Given the description of an element on the screen output the (x, y) to click on. 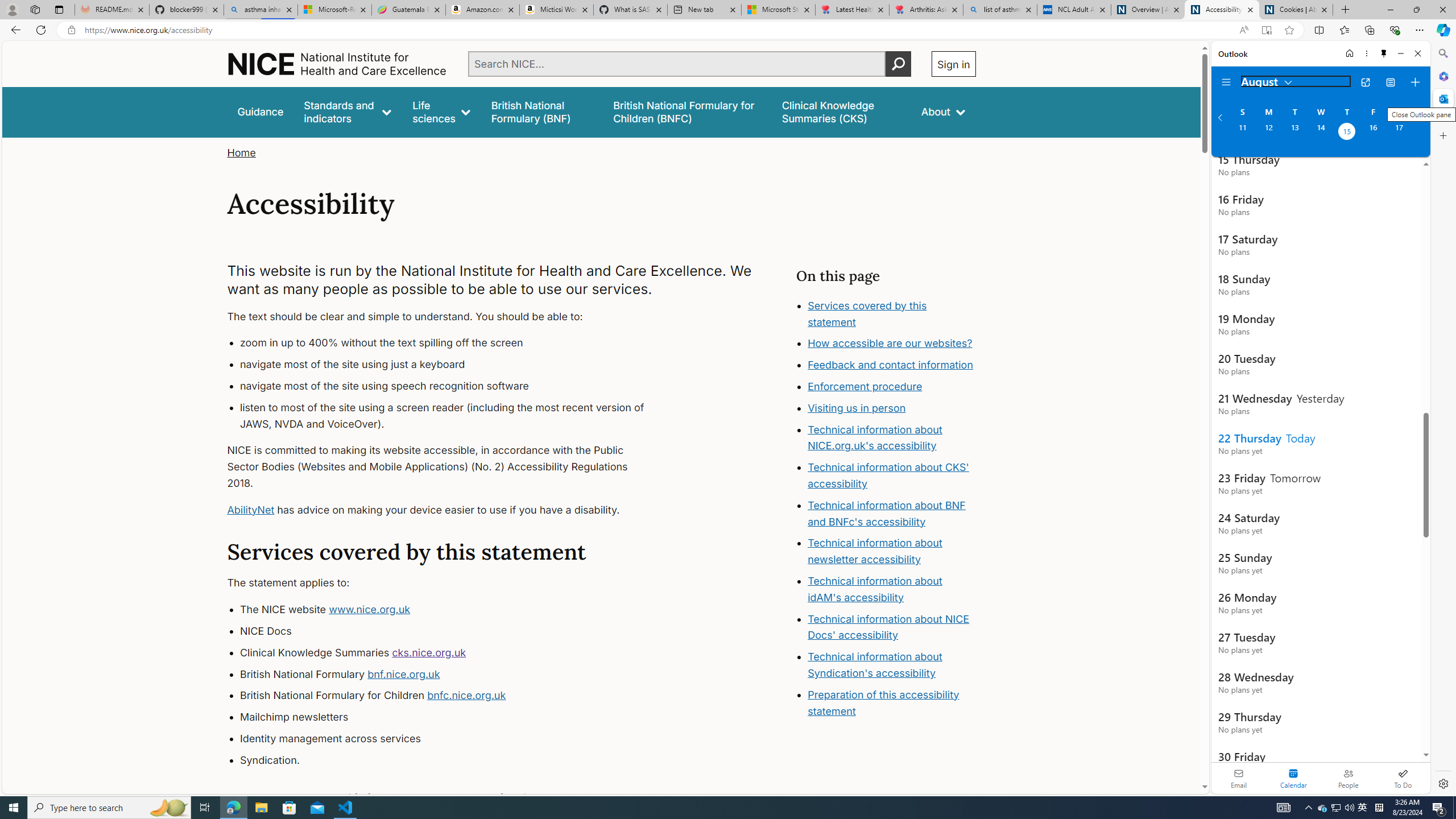
Services covered by this statement (867, 313)
Technical information about BNF and BNFc's accessibility (886, 512)
British National Formulary for Children bnfc.nice.org.uk (452, 695)
Email (1238, 777)
navigate most of the site using just a keyboard (452, 364)
false (841, 111)
Technical information about idAM's accessibility (875, 588)
